Given the description of an element on the screen output the (x, y) to click on. 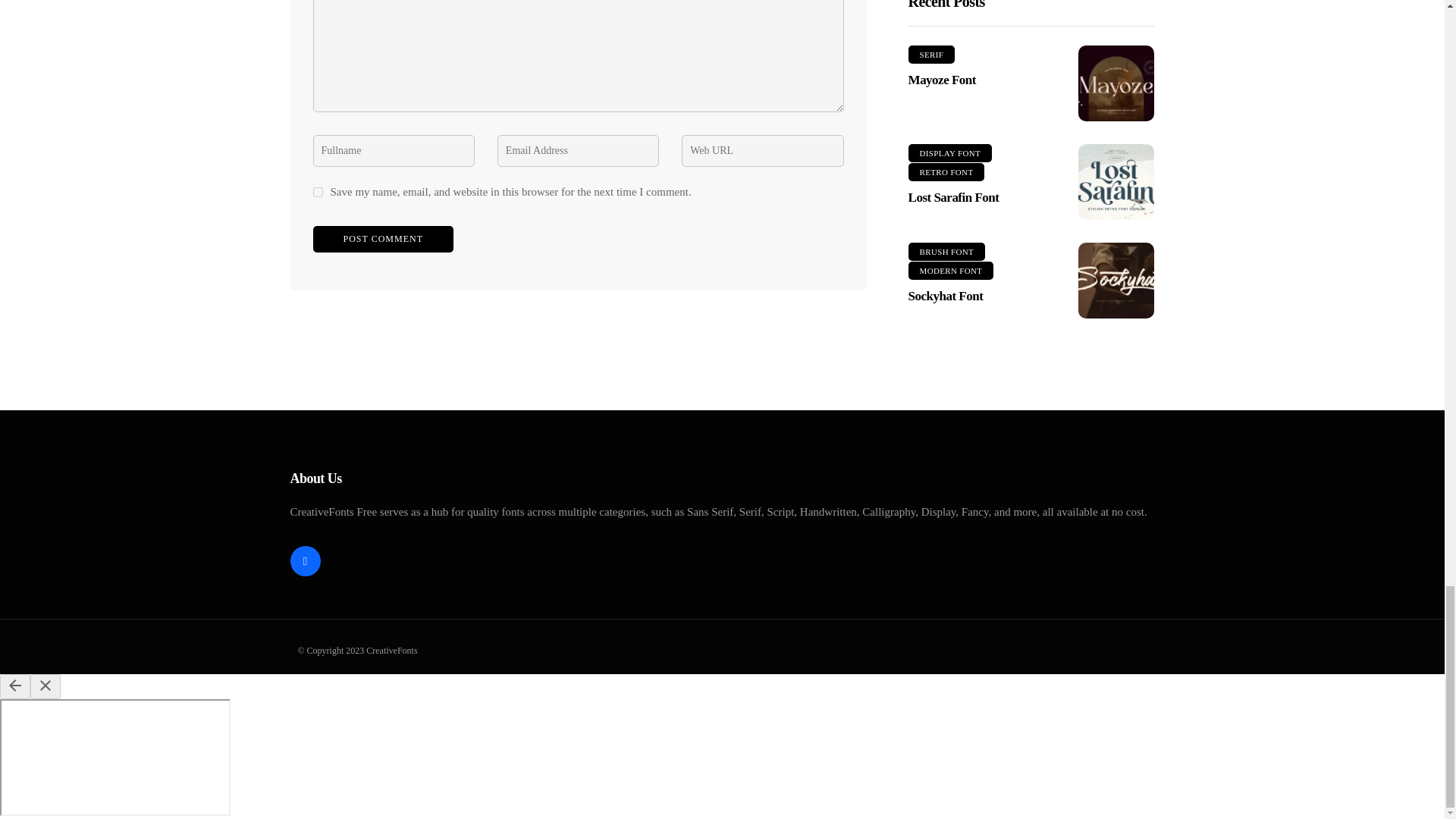
Post Comment (382, 239)
Sockyhat Font (1116, 280)
Mayoze Font (1116, 83)
yes (317, 192)
Lost Sarafin Font (1116, 182)
